Given the description of an element on the screen output the (x, y) to click on. 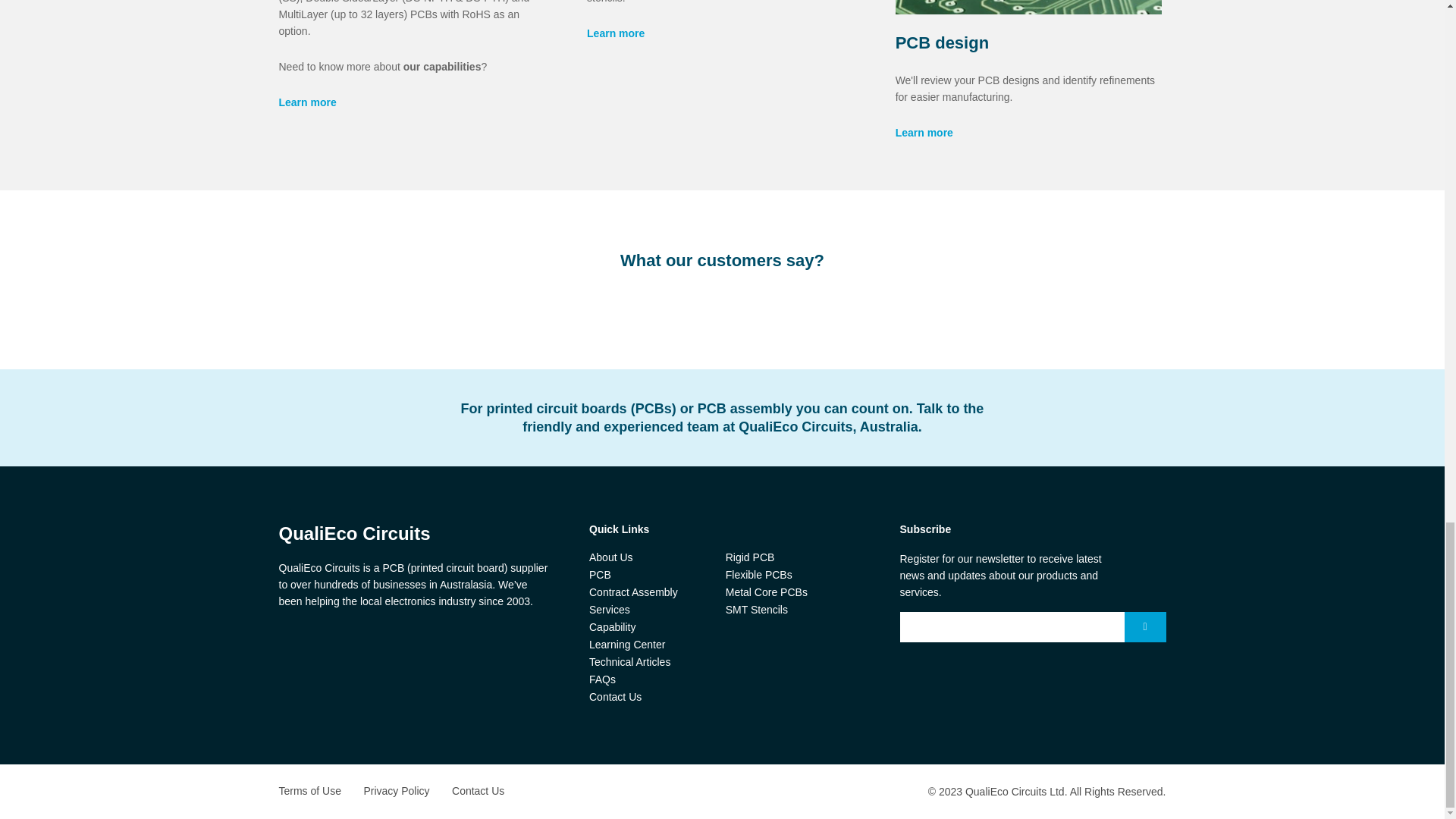
Learn more (307, 102)
Learn more (615, 33)
Learn more (924, 132)
